Given the description of an element on the screen output the (x, y) to click on. 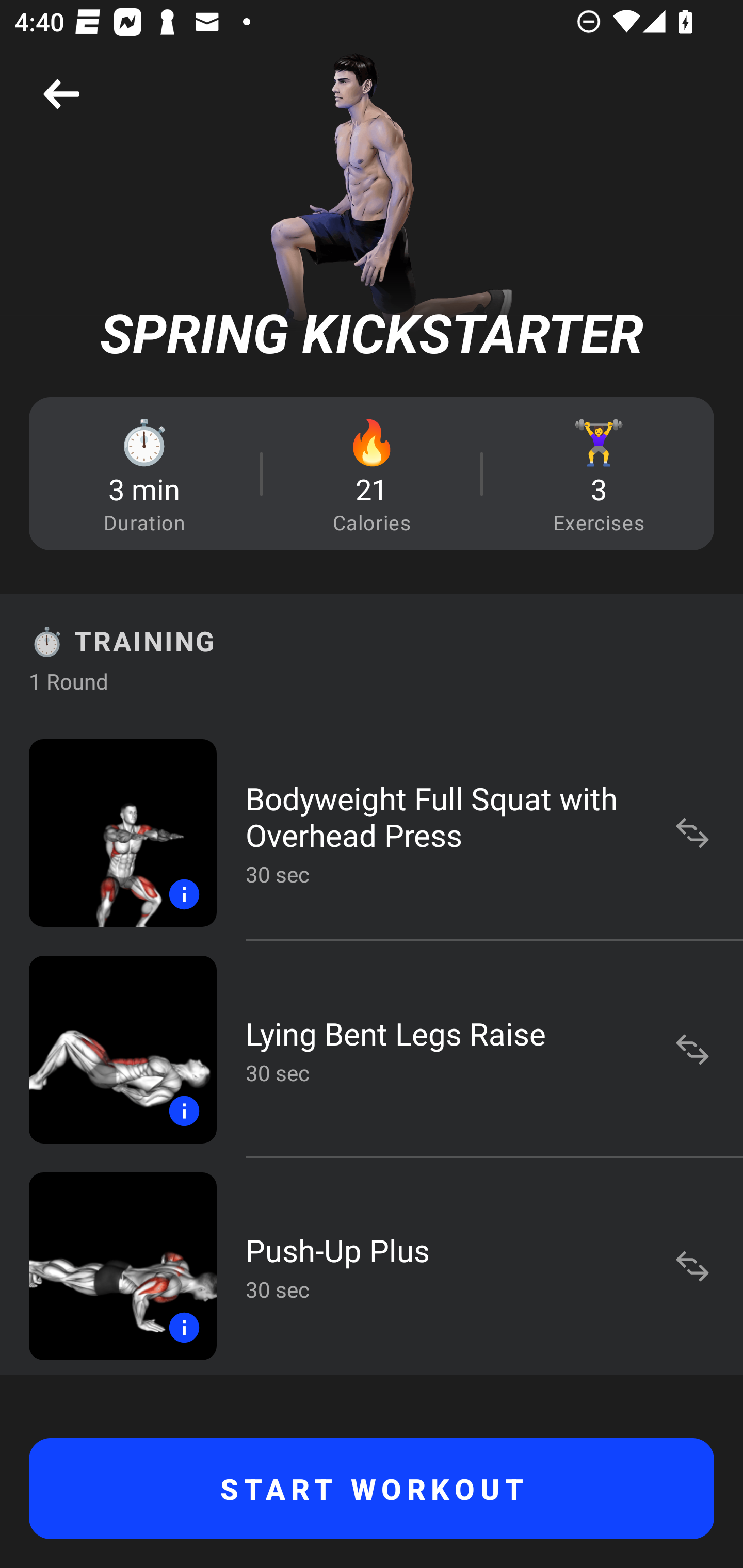
Bodyweight Full Squat with Overhead Press 30 sec (371, 832)
Lying Bent Legs Raise 30 sec (371, 1048)
Push-Up Plus 30 sec (371, 1266)
START WORKOUT (371, 1488)
